Given the description of an element on the screen output the (x, y) to click on. 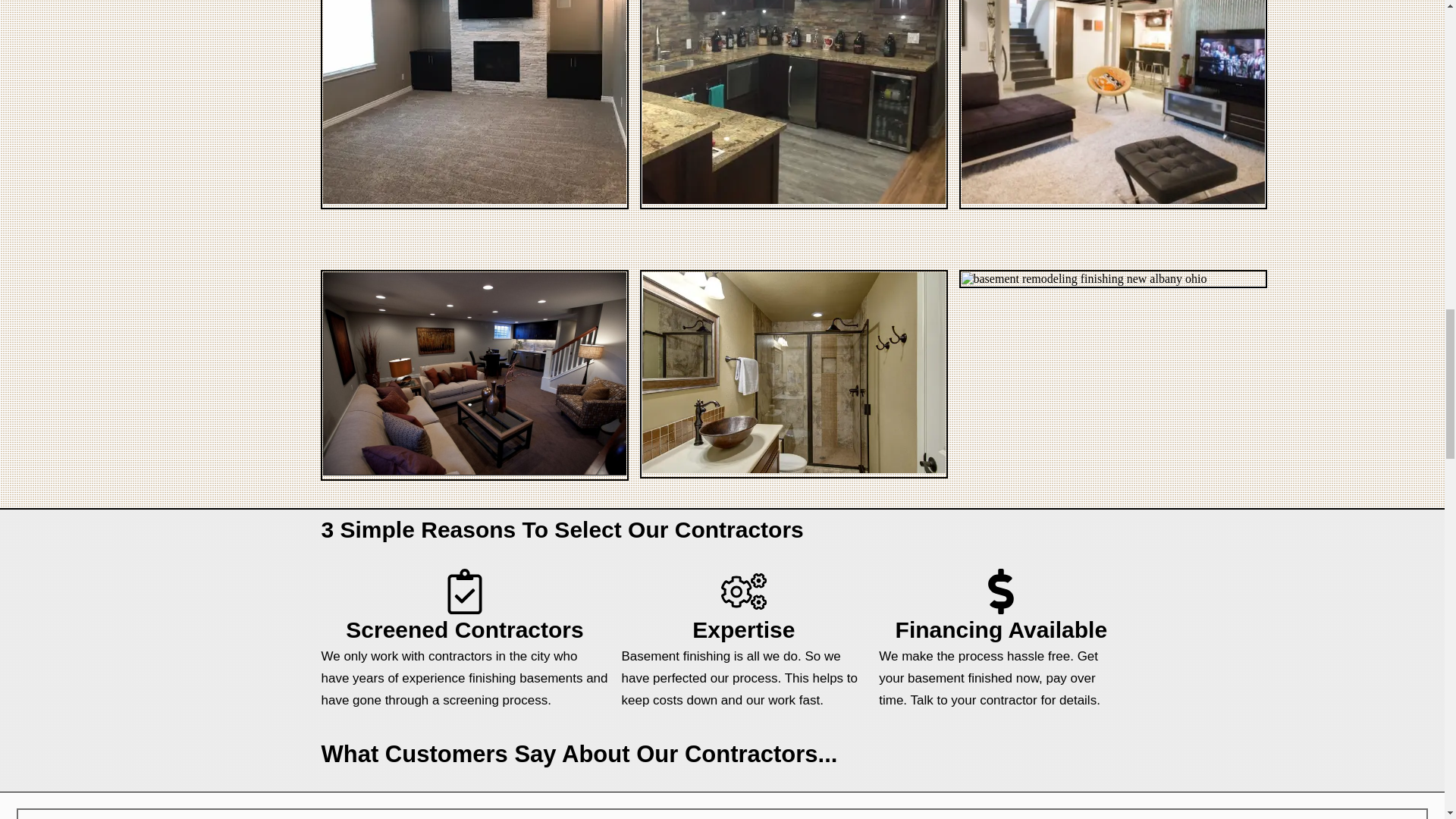
carpet-basement-finishing (474, 101)
basement-bathroom (793, 372)
kitchenette-basement-design (793, 101)
basement-design (474, 373)
basement remodeling finishing new albany ohio (1083, 278)
